Given the description of an element on the screen output the (x, y) to click on. 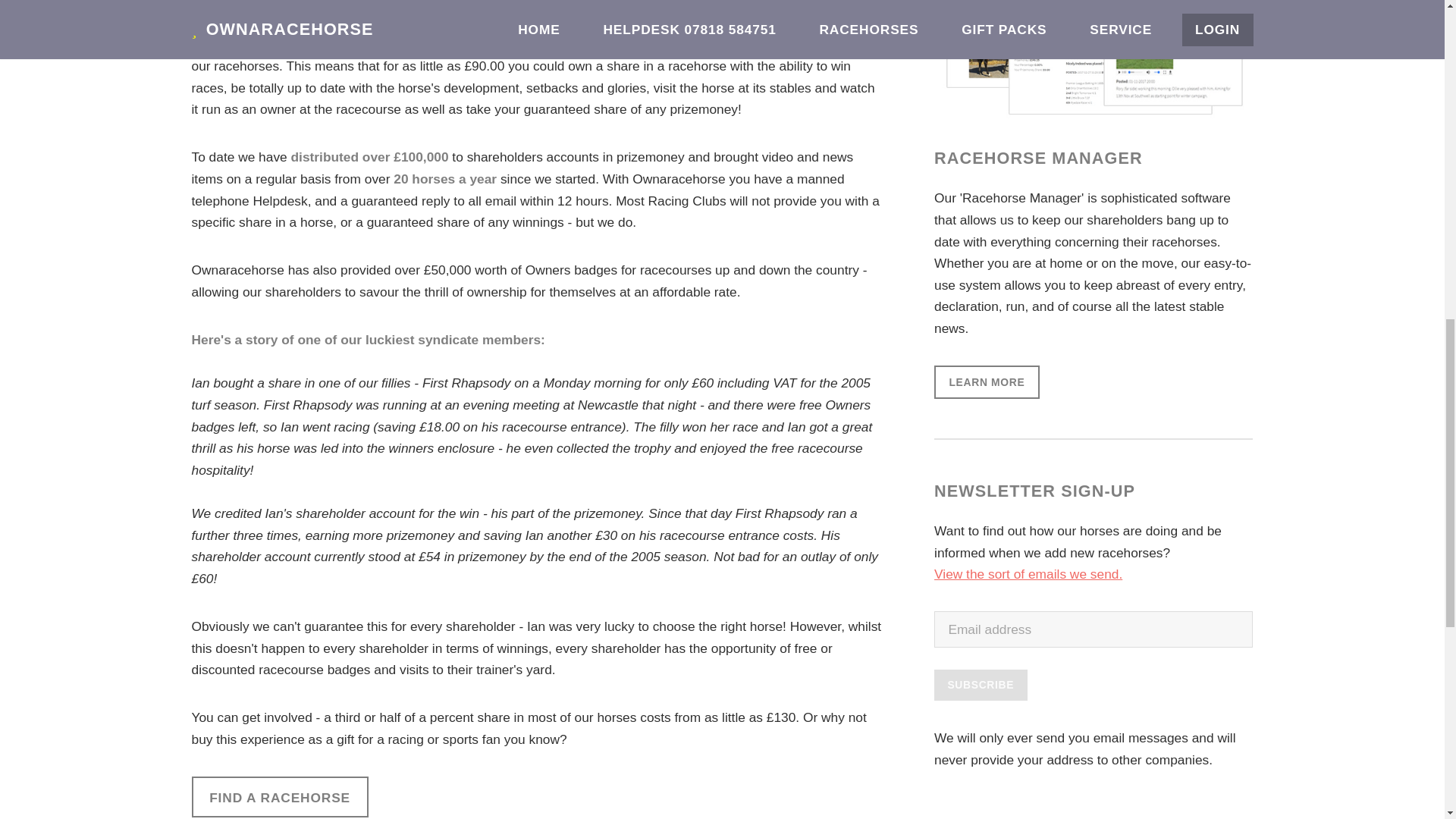
View previous campaigns (1028, 573)
Subscribe (980, 685)
